Given the description of an element on the screen output the (x, y) to click on. 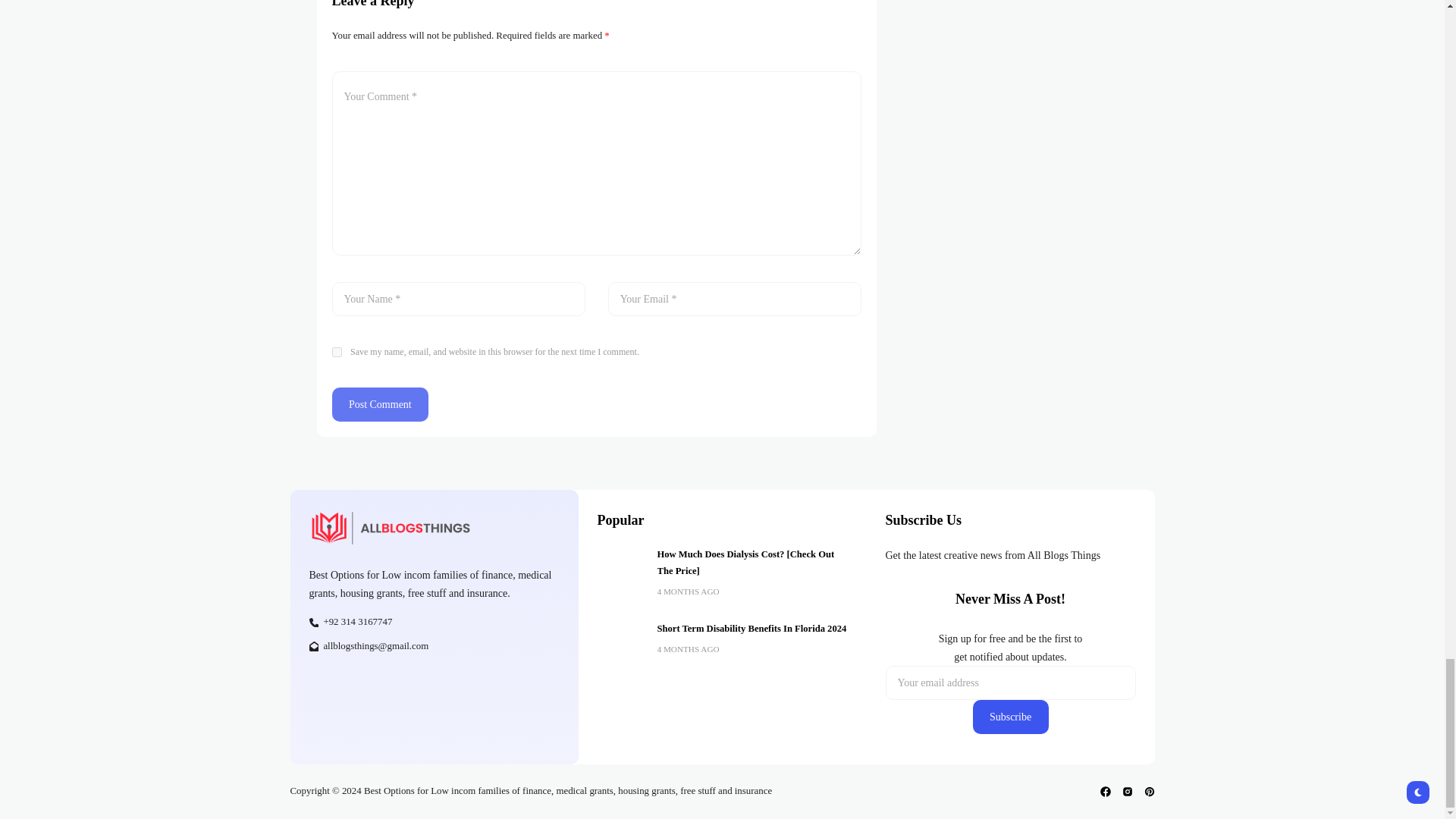
Post Comment (380, 404)
yes (336, 352)
